Given the description of an element on the screen output the (x, y) to click on. 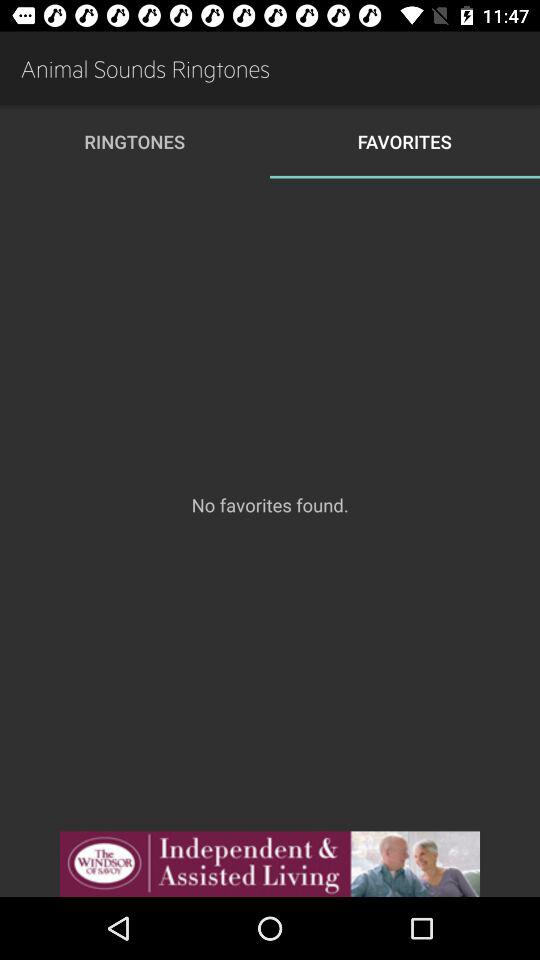
remove the adds (270, 864)
